Given the description of an element on the screen output the (x, y) to click on. 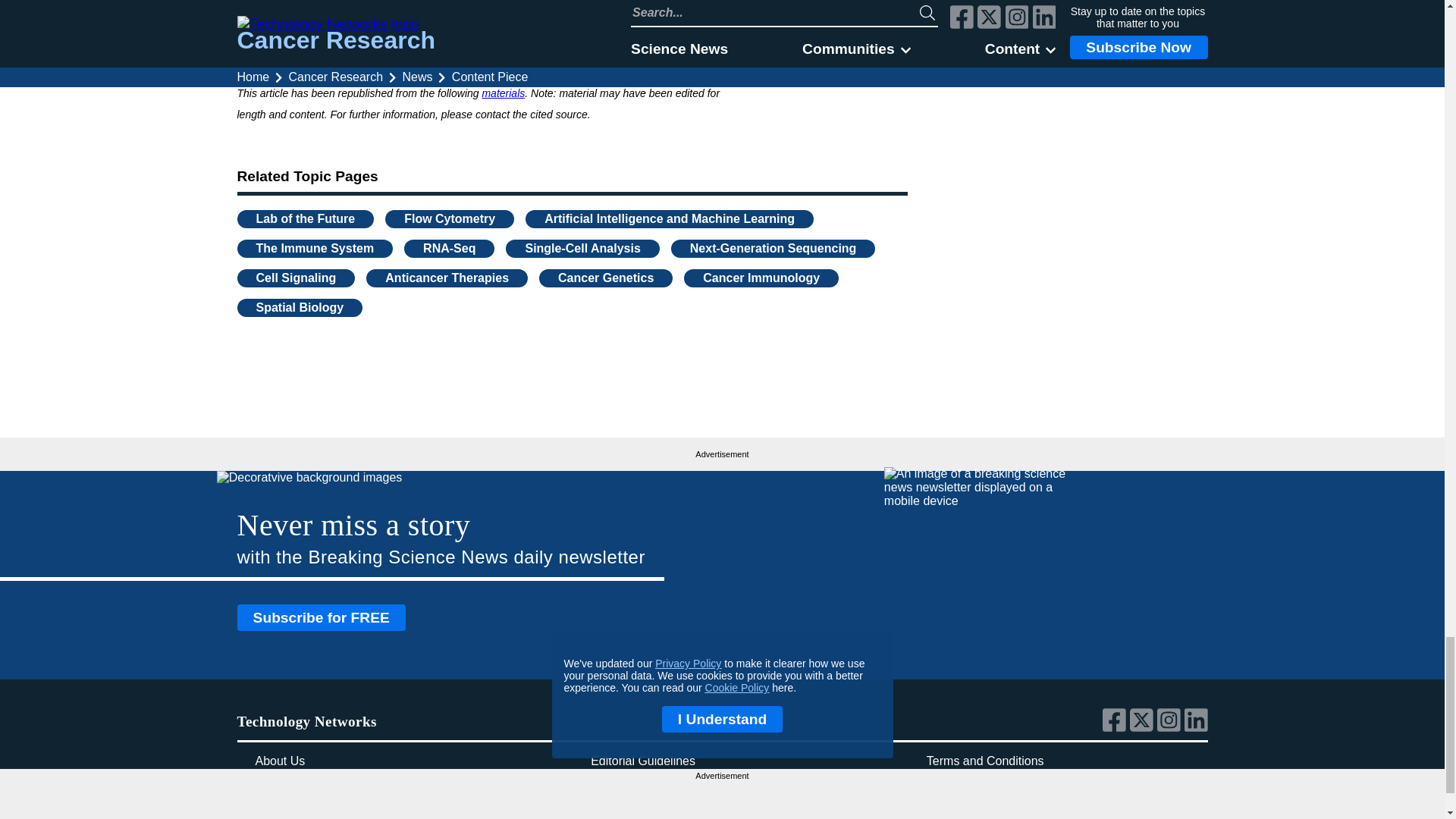
Link to Technology Networks' linkedin page (1196, 728)
Link to Technology Networks' instagram page (1171, 728)
Link to Technology Networks' facebook page (1115, 728)
Link to Technology Networks' twitter page (1143, 728)
